Given the description of an element on the screen output the (x, y) to click on. 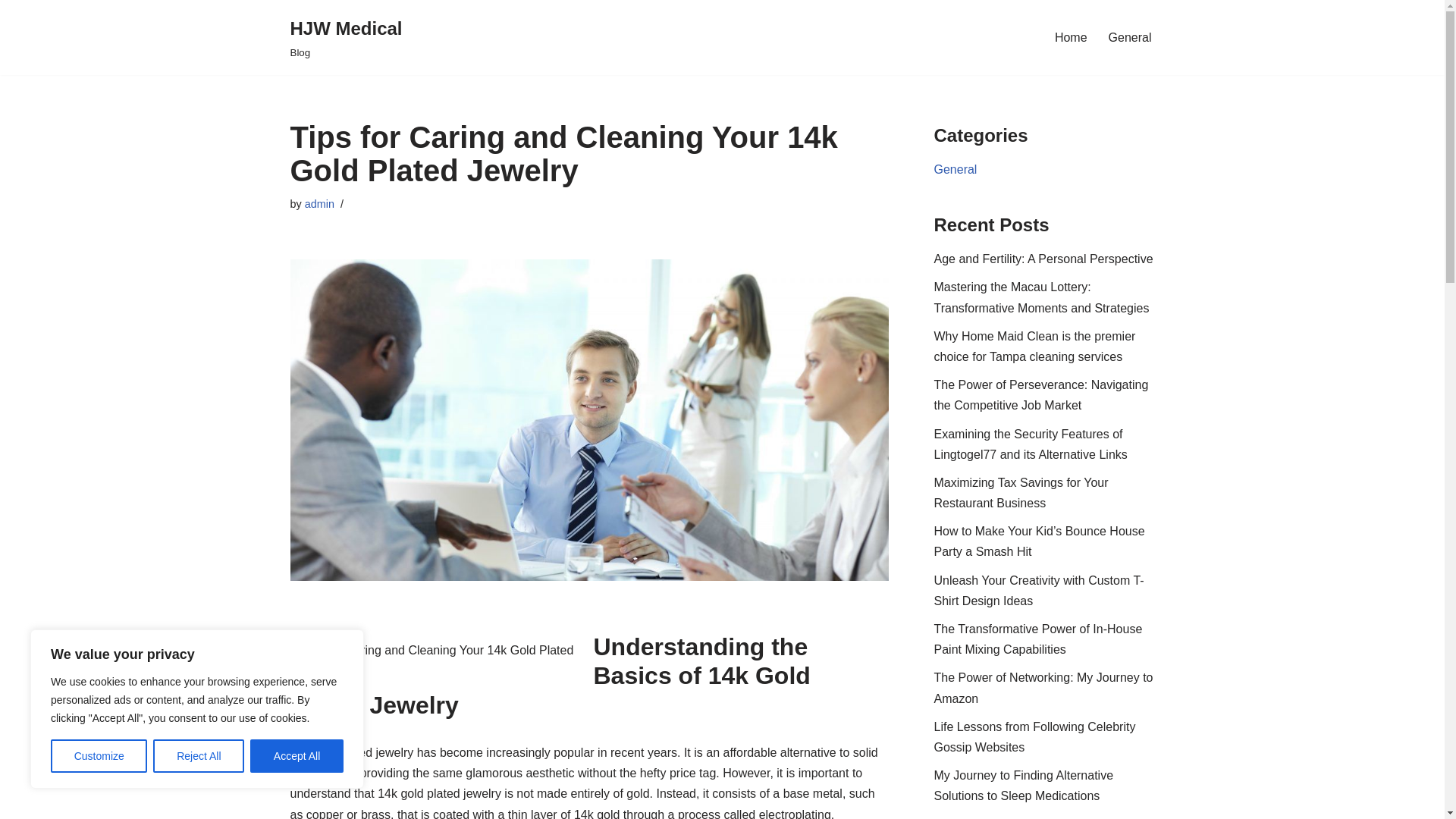
Reject All (198, 756)
Customize (98, 756)
Home (1070, 37)
Posts by admin (319, 203)
General (955, 169)
General (1129, 37)
